Given the description of an element on the screen output the (x, y) to click on. 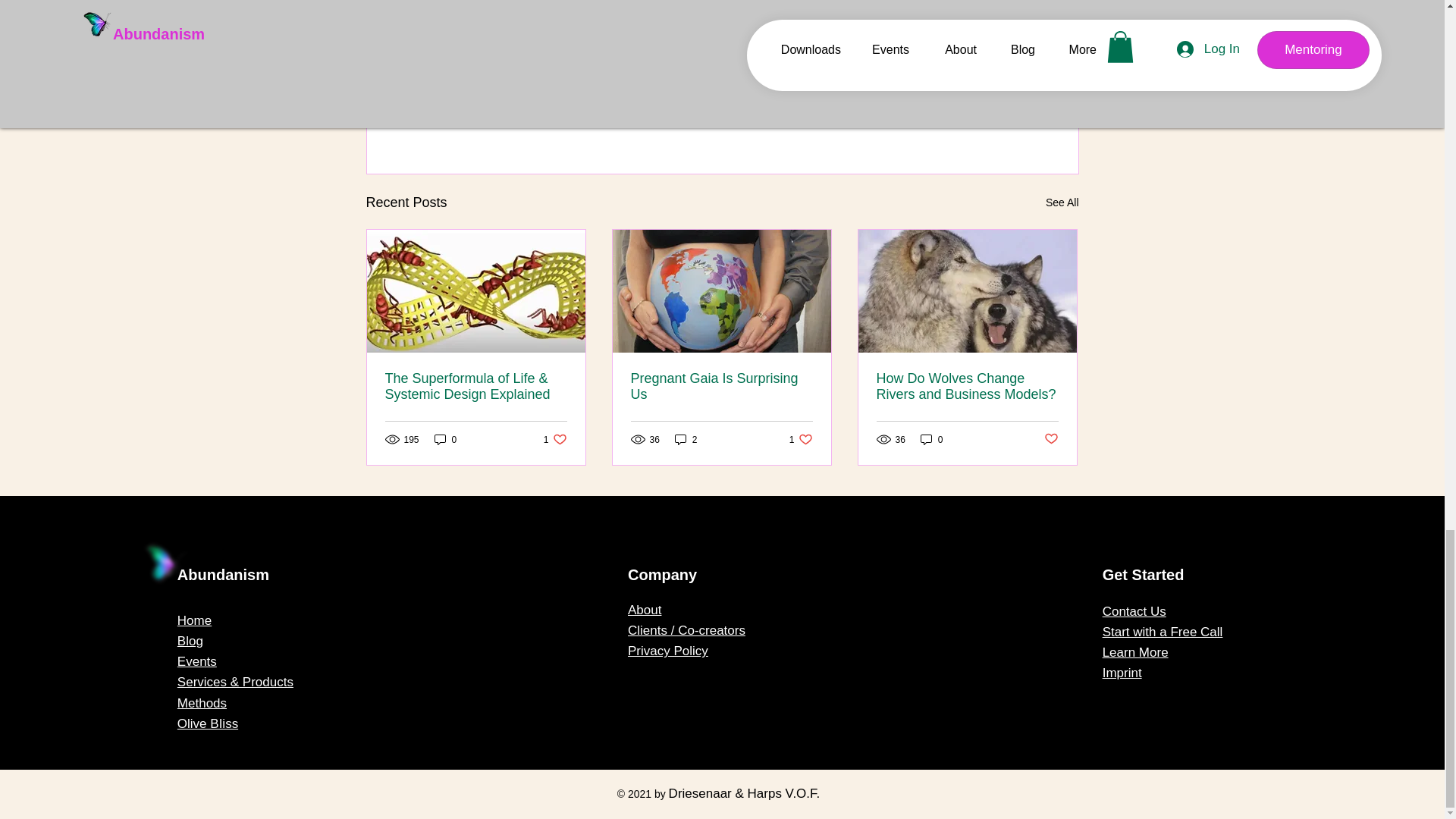
Events (196, 661)
Pregnant Gaia Is Surprising Us (721, 386)
0 (555, 439)
See All (445, 439)
Post not marked as liked (1061, 202)
Blog (800, 439)
Abundanism (1050, 439)
Methods (190, 640)
